Given the description of an element on the screen output the (x, y) to click on. 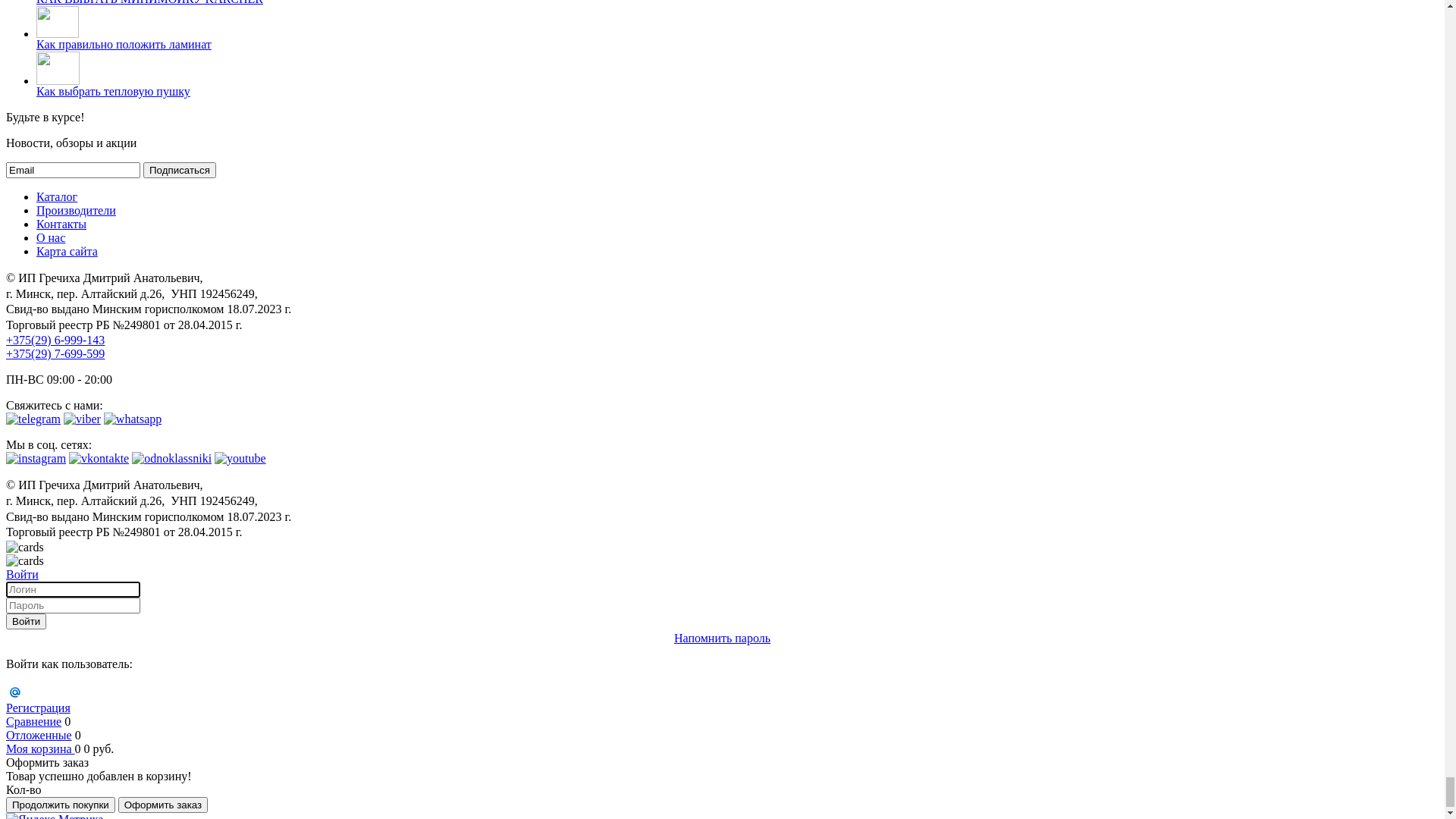
Marketstroy.by@gmail.com Element type: text (72, 258)
Armonia Slim Element type: text (161, 771)
Cruise Element type: text (143, 702)
Cyclone Element type: text (147, 716)
Concept Element type: text (147, 784)
Armonia Large Element type: text (164, 757)
Aberhof Element type: text (117, 689)
Effect Element type: text (141, 798)
Storm Element type: text (141, 730)
AGT Element type: text (109, 743)
